Given the description of an element on the screen output the (x, y) to click on. 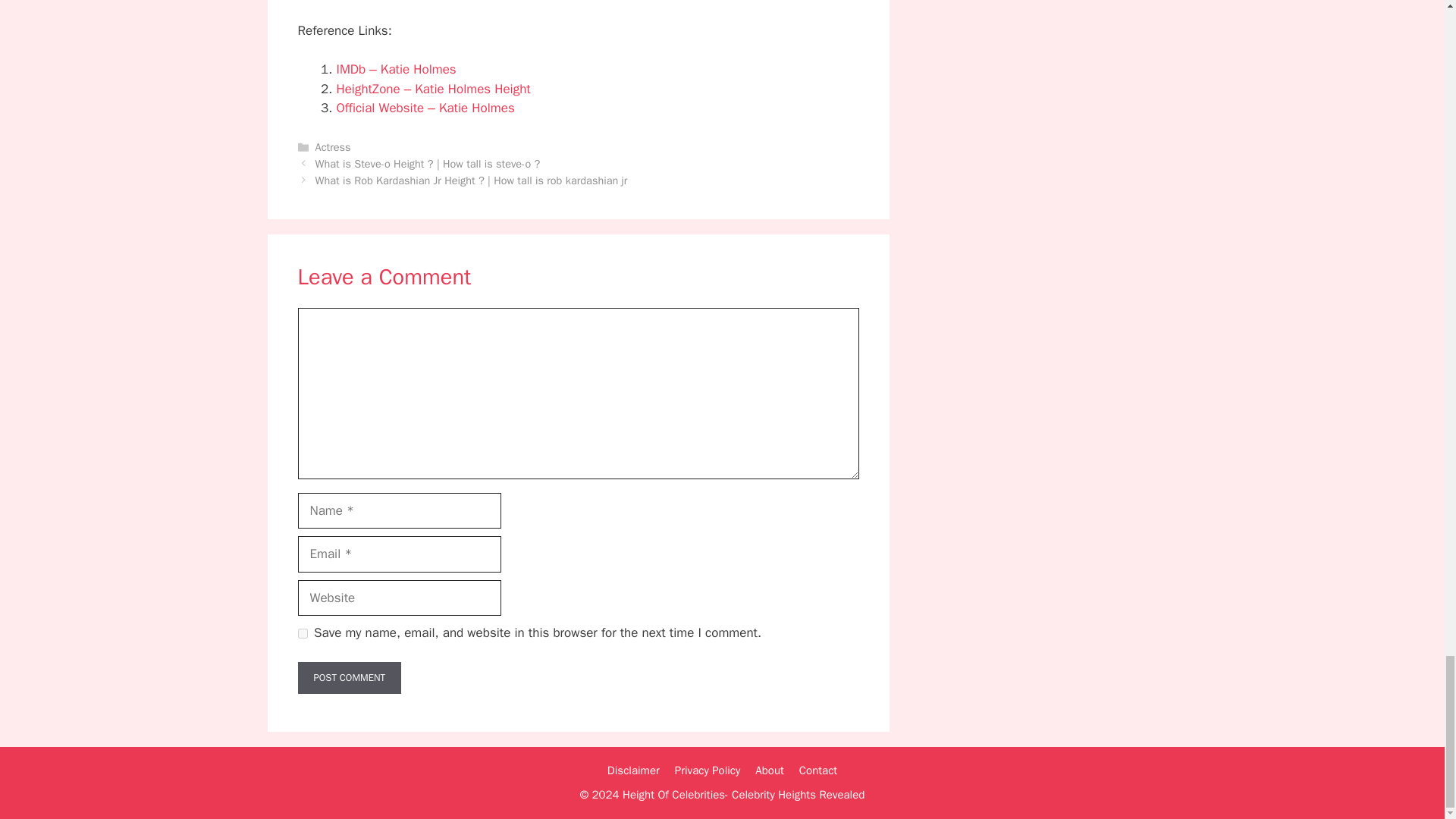
yes (302, 633)
Post Comment (349, 677)
